Given the description of an element on the screen output the (x, y) to click on. 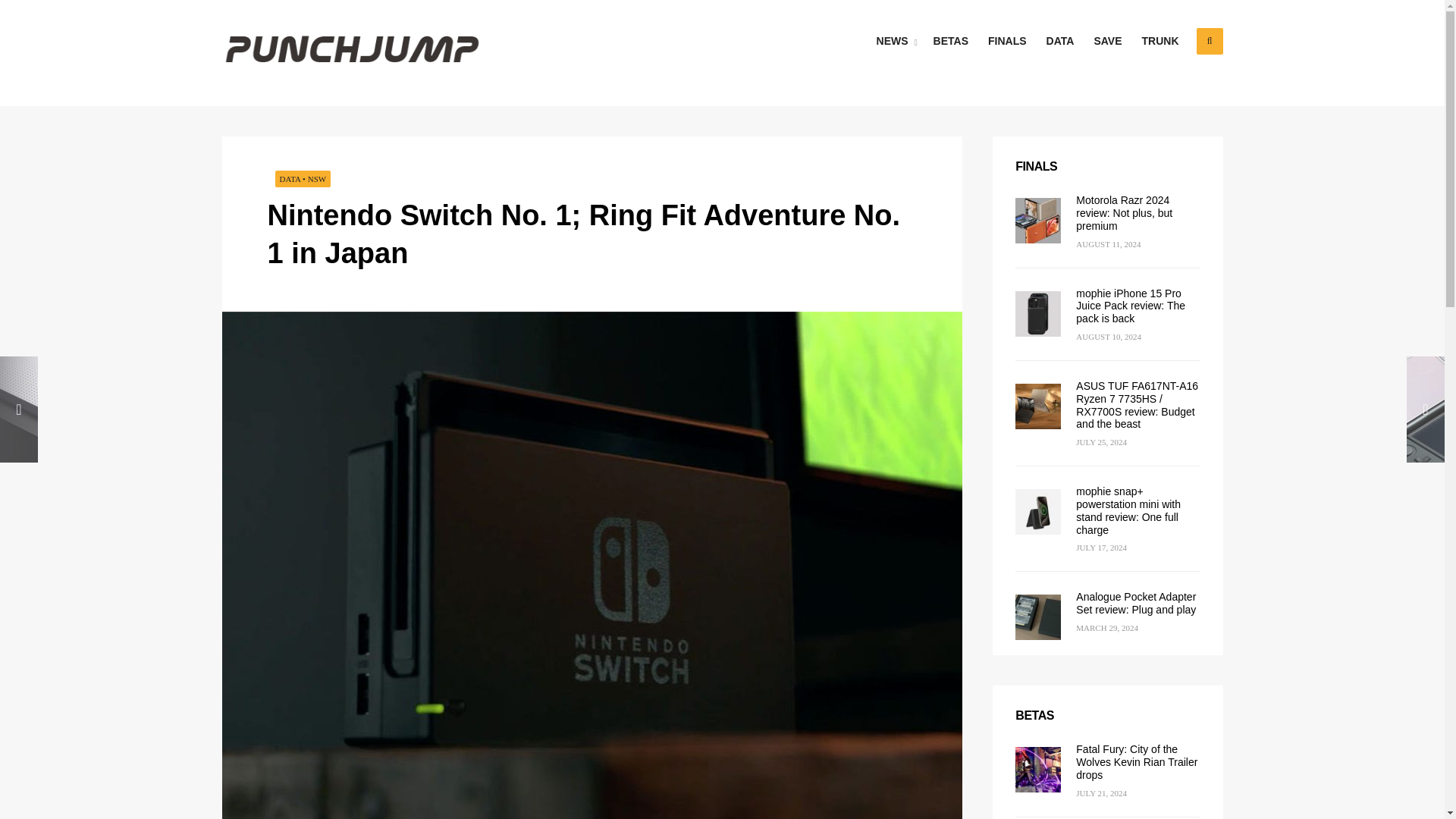
mophie iPhone 15 Pro Juice Pack review: The pack is back (1130, 306)
FINALS (1006, 40)
DATA (289, 178)
DATA (1060, 40)
Analogue Pocket Adapter Set review: Plug and play (1135, 602)
Fatal Fury: City of the Wolves Kevin Rian Trailer drops (1135, 761)
mophie iPhone 15 Pro Juice Pack review: The pack is back (1130, 306)
TRUNK (1160, 40)
NSW (316, 178)
NEWS (895, 40)
